Given the description of an element on the screen output the (x, y) to click on. 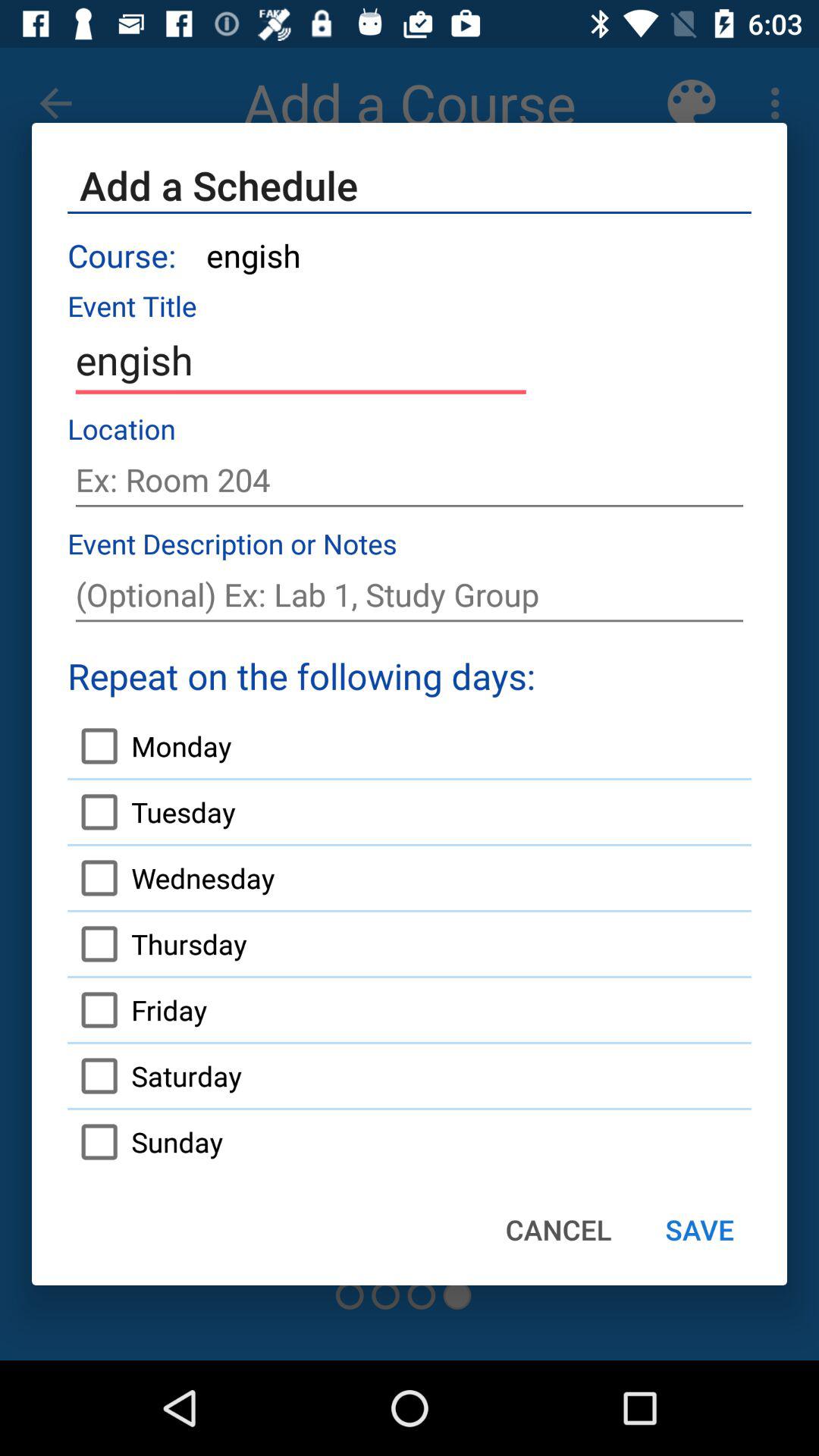
click the item next to the sunday (558, 1229)
